Given the description of an element on the screen output the (x, y) to click on. 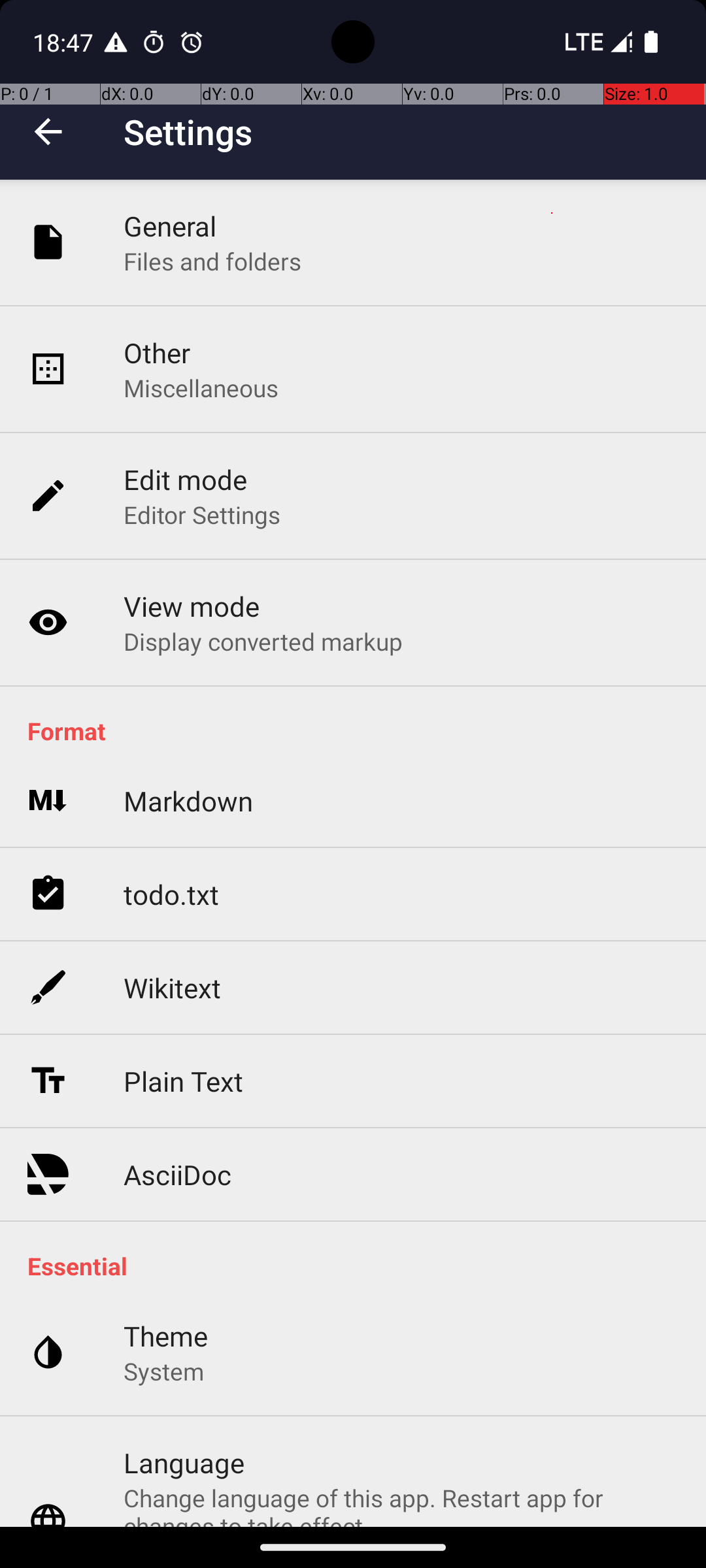
Format Element type: android.widget.TextView (359, 730)
Essential Element type: android.widget.TextView (359, 1265)
General Element type: android.widget.TextView (170, 225)
Files and folders Element type: android.widget.TextView (212, 260)
Other Element type: android.widget.TextView (156, 352)
Miscellaneous Element type: android.widget.TextView (200, 387)
Edit mode Element type: android.widget.TextView (185, 478)
Editor Settings Element type: android.widget.TextView (202, 514)
Display converted markup Element type: android.widget.TextView (263, 640)
todo.txt Element type: android.widget.TextView (170, 893)
Wikitext Element type: android.widget.TextView (171, 987)
Plain Text Element type: android.widget.TextView (183, 1080)
AsciiDoc Element type: android.widget.TextView (177, 1173)
Theme Element type: android.widget.TextView (165, 1335)
System Element type: android.widget.TextView (163, 1370)
Language Element type: android.widget.TextView (183, 1462)
Change language of this app. Restart app for changes to take effect

English (English, United States) Element type: android.widget.TextView (400, 1503)
18:47 Element type: android.widget.TextView (64, 41)
Clock notification: Upcoming alarm Element type: android.widget.ImageView (191, 41)
